Given the description of an element on the screen output the (x, y) to click on. 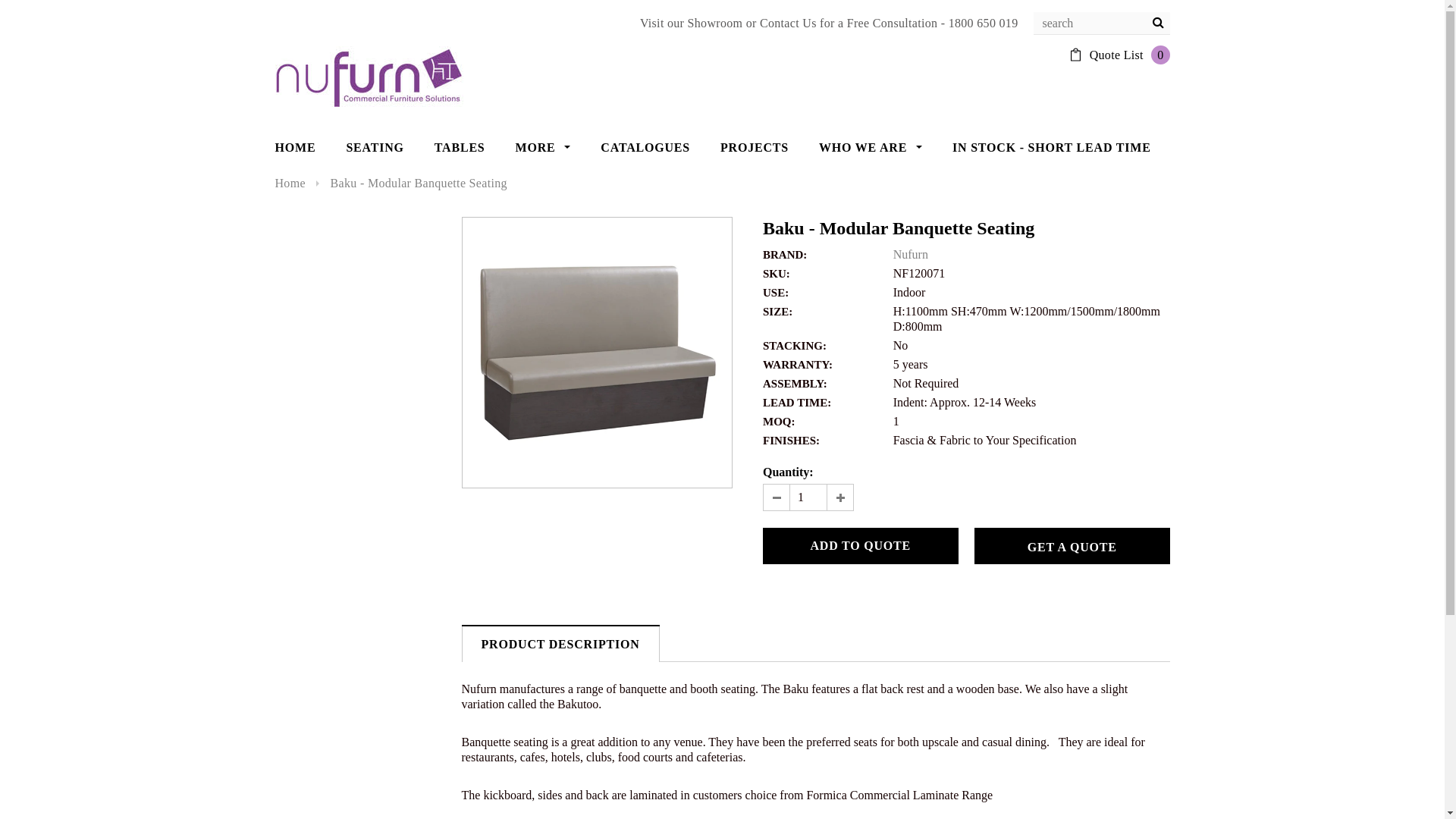
Quote List 0 Element type: text (1129, 54)
SEATING Element type: text (374, 147)
CATALOGUES Element type: text (645, 147)
PROJECTS Element type: text (754, 147)
GET A QUOTE Element type: text (1072, 545)
PRODUCT DESCRIPTION Element type: text (559, 644)
MORE Element type: text (543, 147)
HOME Element type: text (294, 147)
Add to Quote Element type: text (860, 545)
IN STOCK - SHORT LEAD TIME Element type: text (1051, 147)
Home Element type: text (289, 182)
WHO WE ARE Element type: text (870, 147)
TABLES Element type: text (459, 147)
